Given the description of an element on the screen output the (x, y) to click on. 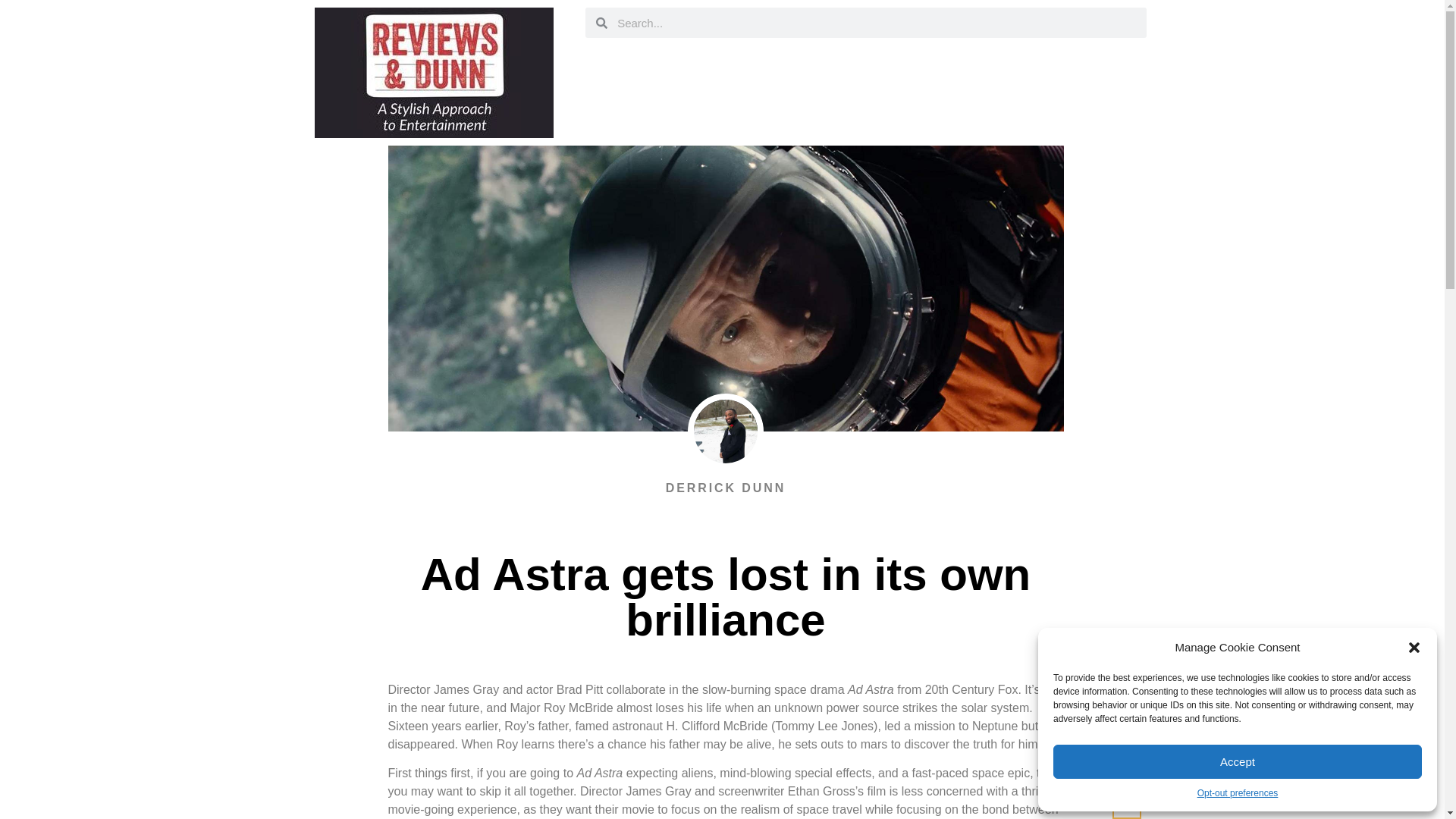
Opt-out preferences (1237, 793)
Accept (1237, 761)
